Given the description of an element on the screen output the (x, y) to click on. 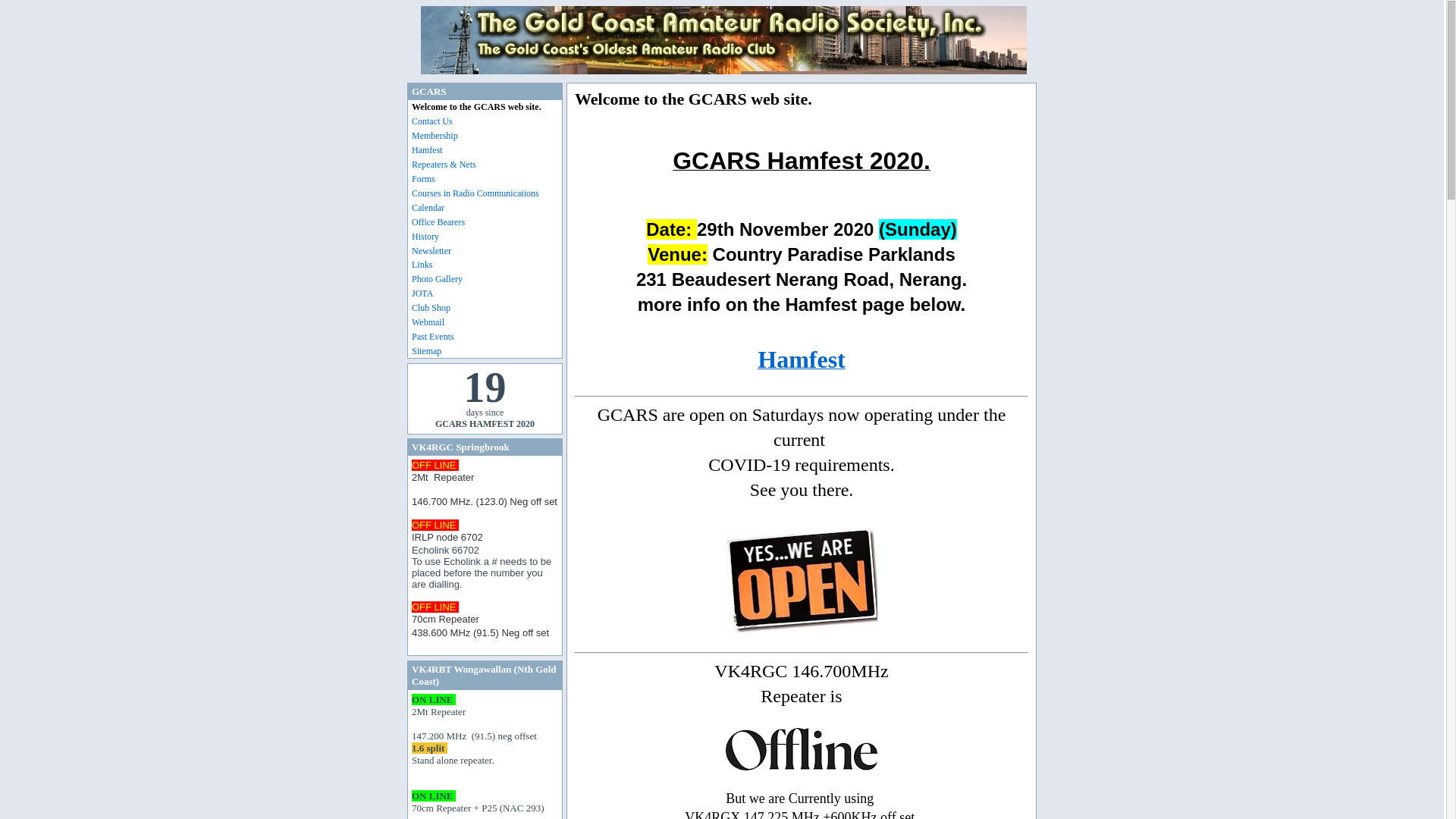
Past Events Element type: text (486, 337)
Repeaters & Nets Element type: text (486, 165)
JOTA Element type: text (486, 294)
Membership Element type: text (486, 136)
Club Shop Element type: text (486, 308)
Hamfest Element type: text (801, 364)
History Element type: text (486, 237)
Hamfest Element type: text (486, 150)
Forms Element type: text (486, 179)
Contact Us Element type: text (486, 122)
Office Bearers Element type: text (486, 222)
Sitemap Element type: text (486, 351)
Newsletter Element type: text (486, 251)
Photo Gallery Element type: text (486, 279)
Webmail Element type: text (486, 322)
Courses in Radio Communications Element type: text (486, 194)
Calendar Element type: text (486, 208)
Links Element type: text (486, 265)
